Given the description of an element on the screen output the (x, y) to click on. 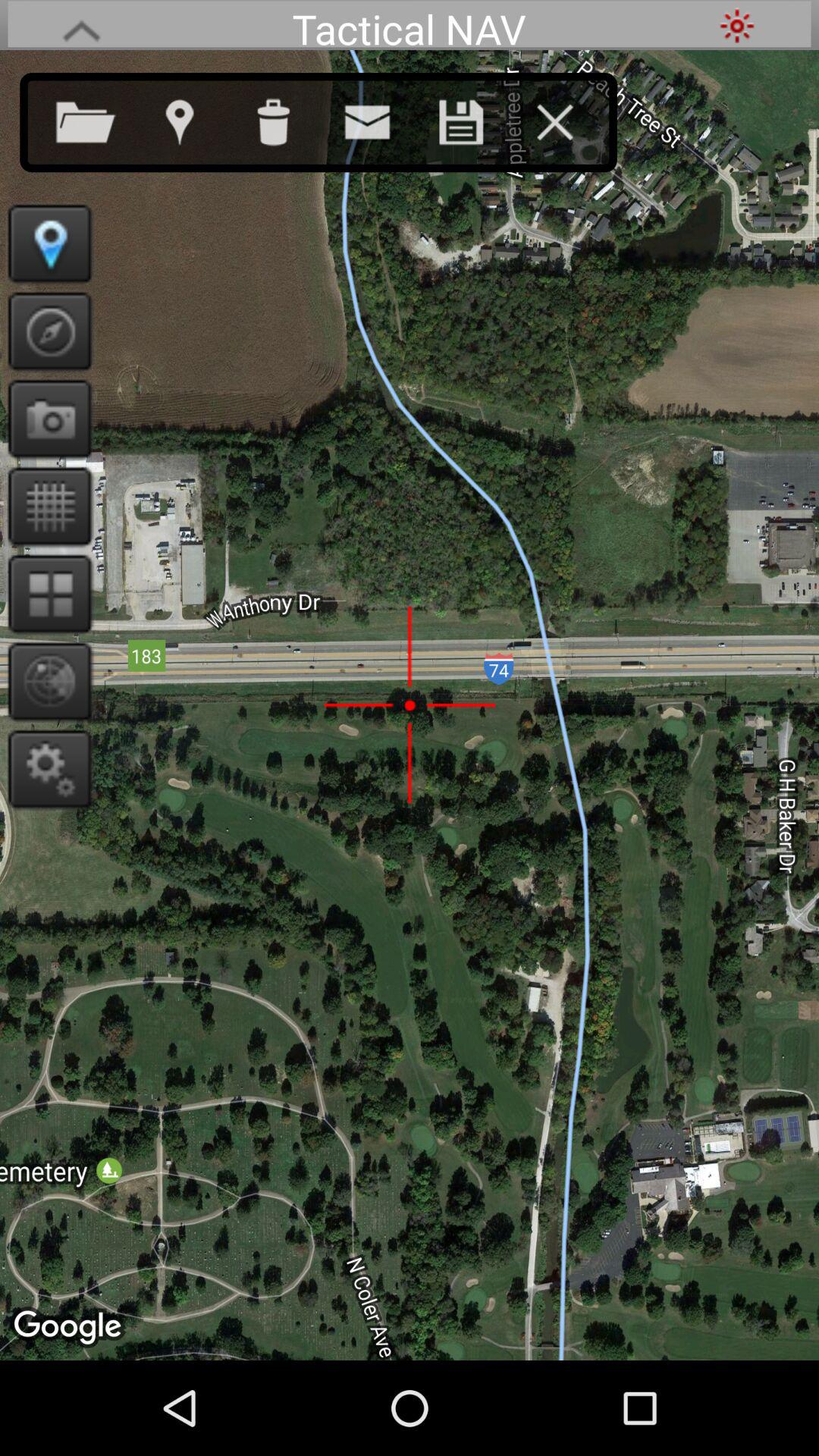
open compass (45, 330)
